Given the description of an element on the screen output the (x, y) to click on. 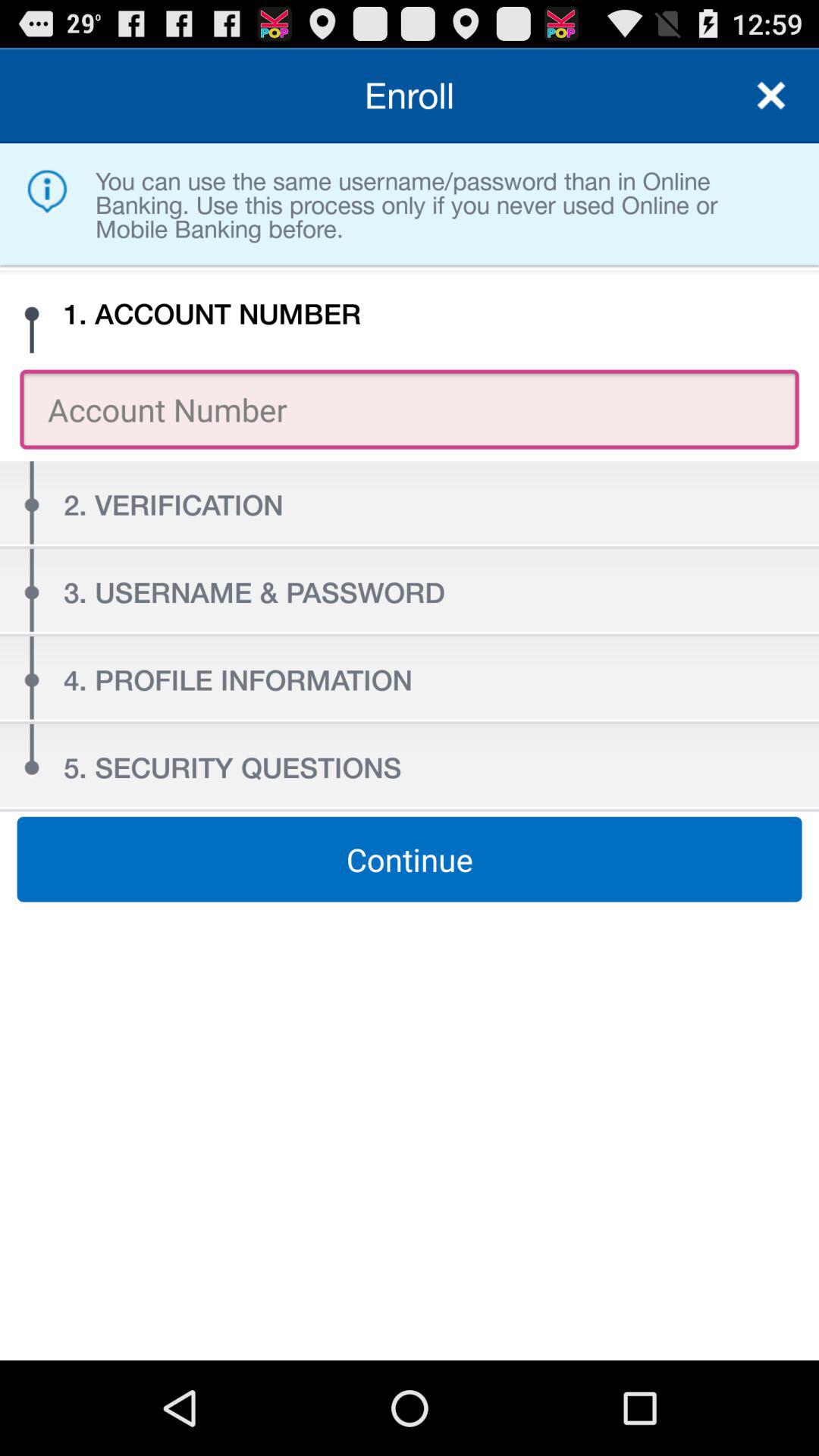
enter account number (771, 95)
